Given the description of an element on the screen output the (x, y) to click on. 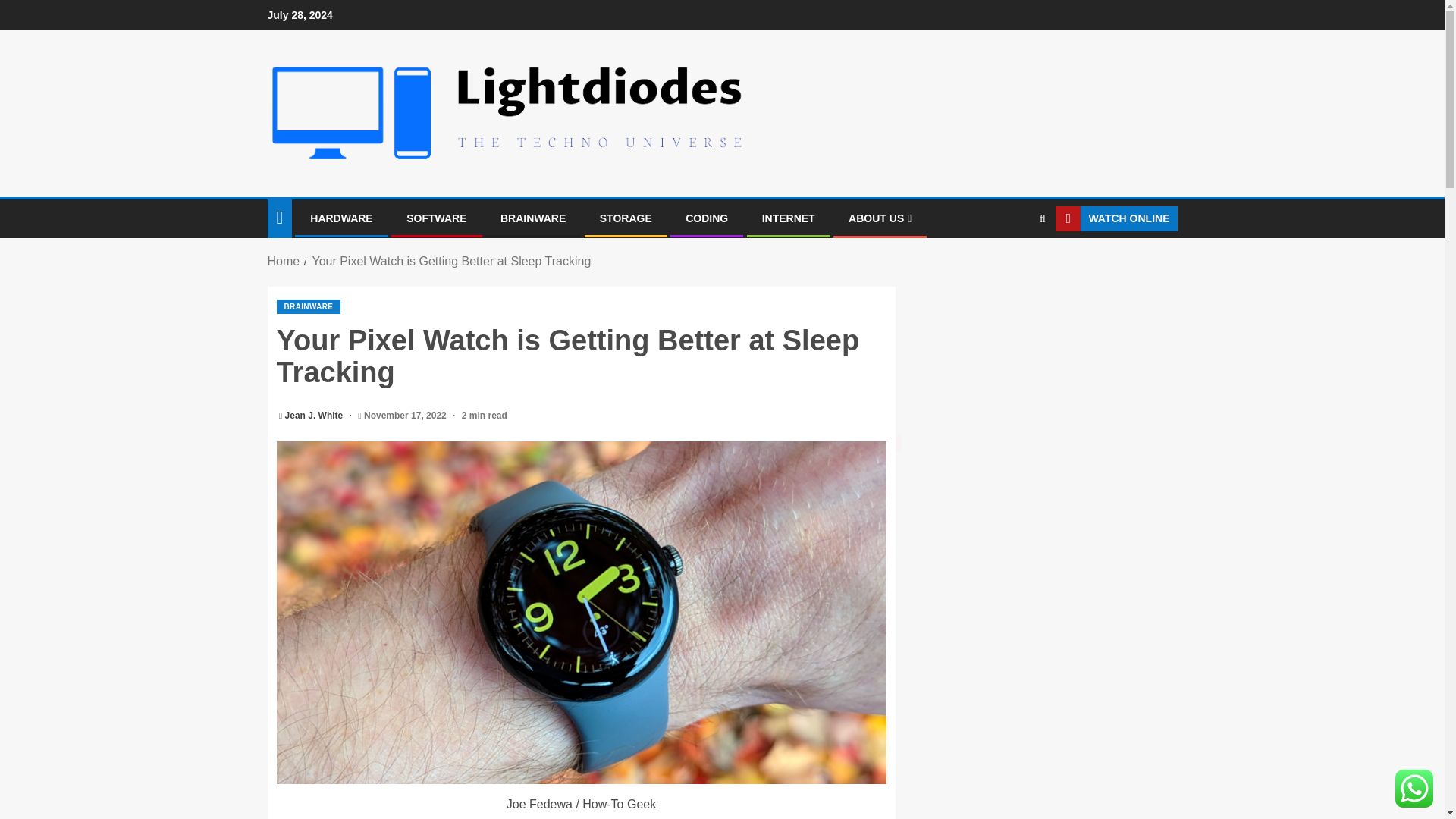
Your Pixel Watch is Getting Better at Sleep Tracking (451, 260)
ABOUT US (879, 218)
SOFTWARE (435, 218)
CODING (706, 218)
Home (282, 260)
HARDWARE (341, 218)
WATCH ONLINE (1115, 218)
BRAINWARE (308, 306)
STORAGE (625, 218)
BRAINWARE (533, 218)
Jean J. White (315, 415)
INTERNET (788, 218)
Search (1013, 265)
